Given the description of an element on the screen output the (x, y) to click on. 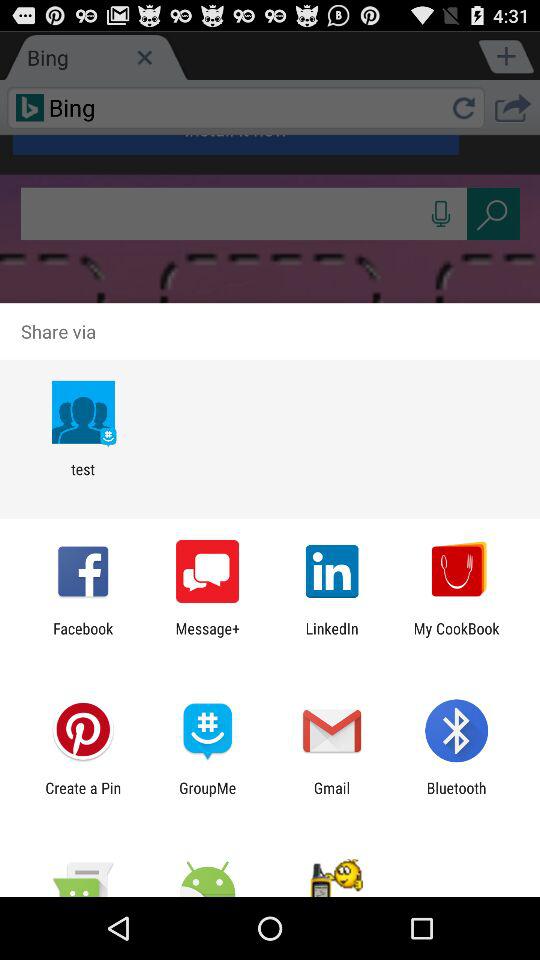
tap facebook app (83, 637)
